Given the description of an element on the screen output the (x, y) to click on. 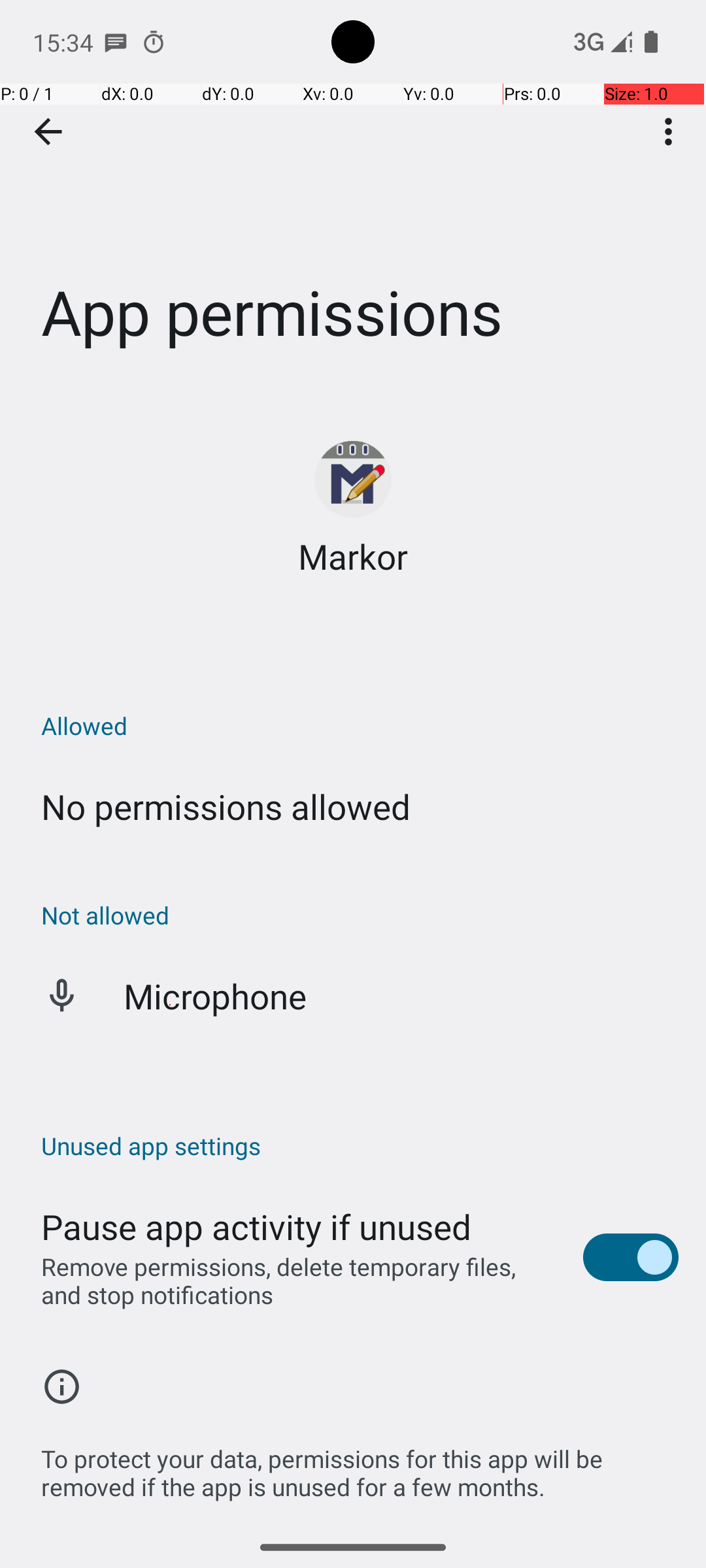
App permissions Element type: android.widget.FrameLayout (353, 195)
No permissions allowed Element type: android.widget.TextView (225, 806)
Microphone Element type: android.widget.TextView (215, 995)
Unused app settings Element type: android.widget.TextView (359, 1145)
Pause app activity if unused Element type: android.widget.TextView (256, 1226)
Remove permissions, delete temporary files, and stop notifications Element type: android.widget.TextView (298, 1280)
To protect your data, permissions for this app will be removed if the app is unused for a few months. Element type: android.widget.TextView (359, 1465)
